Given the description of an element on the screen output the (x, y) to click on. 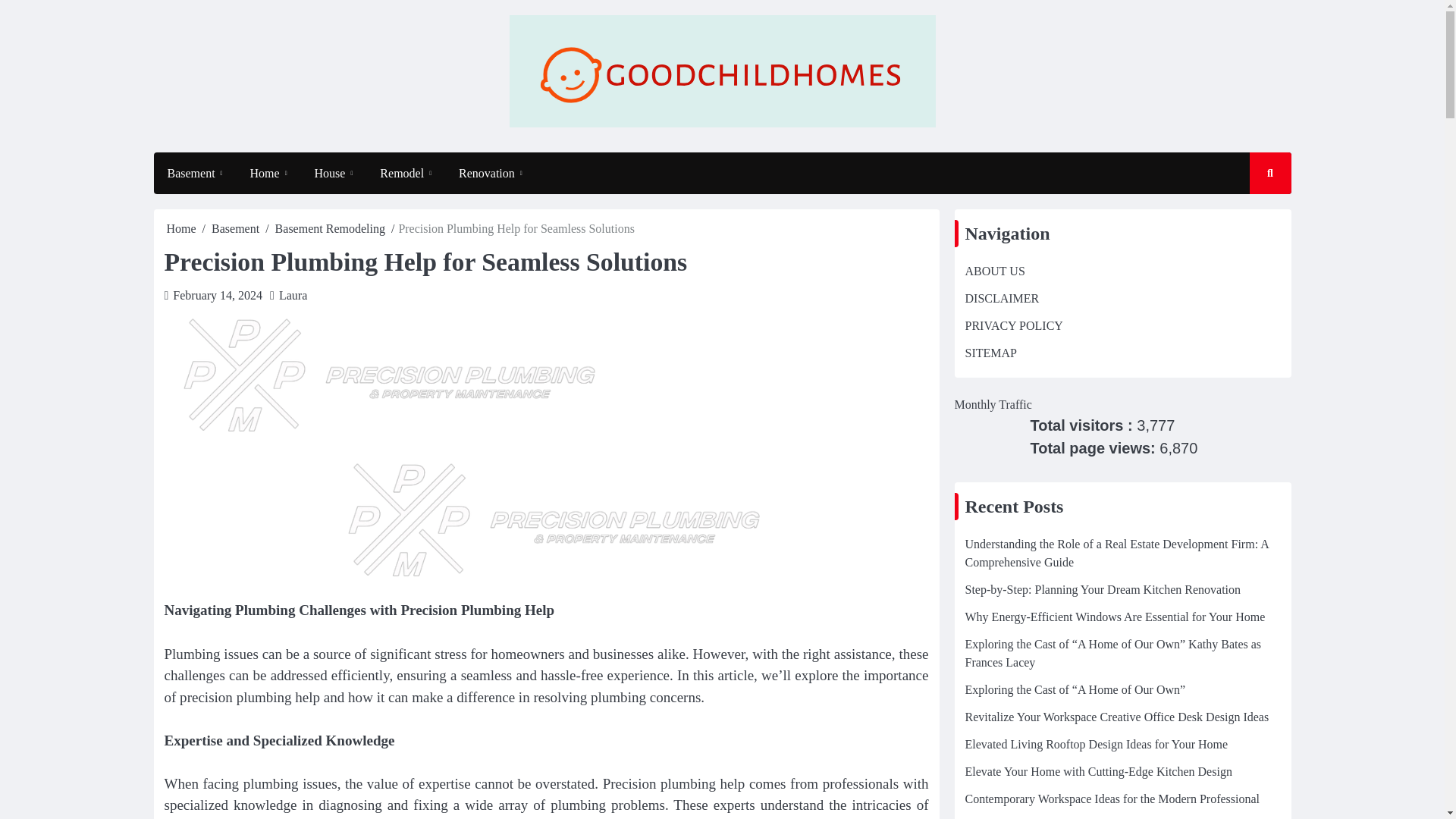
February 14, 2024 (217, 295)
Basement Remodeling (330, 228)
Basement (235, 228)
Renovation (490, 173)
Home (181, 228)
Remodel (405, 173)
Home (268, 173)
Laura (293, 295)
Search (1256, 217)
Basement (193, 173)
House (333, 173)
